Given the description of an element on the screen output the (x, y) to click on. 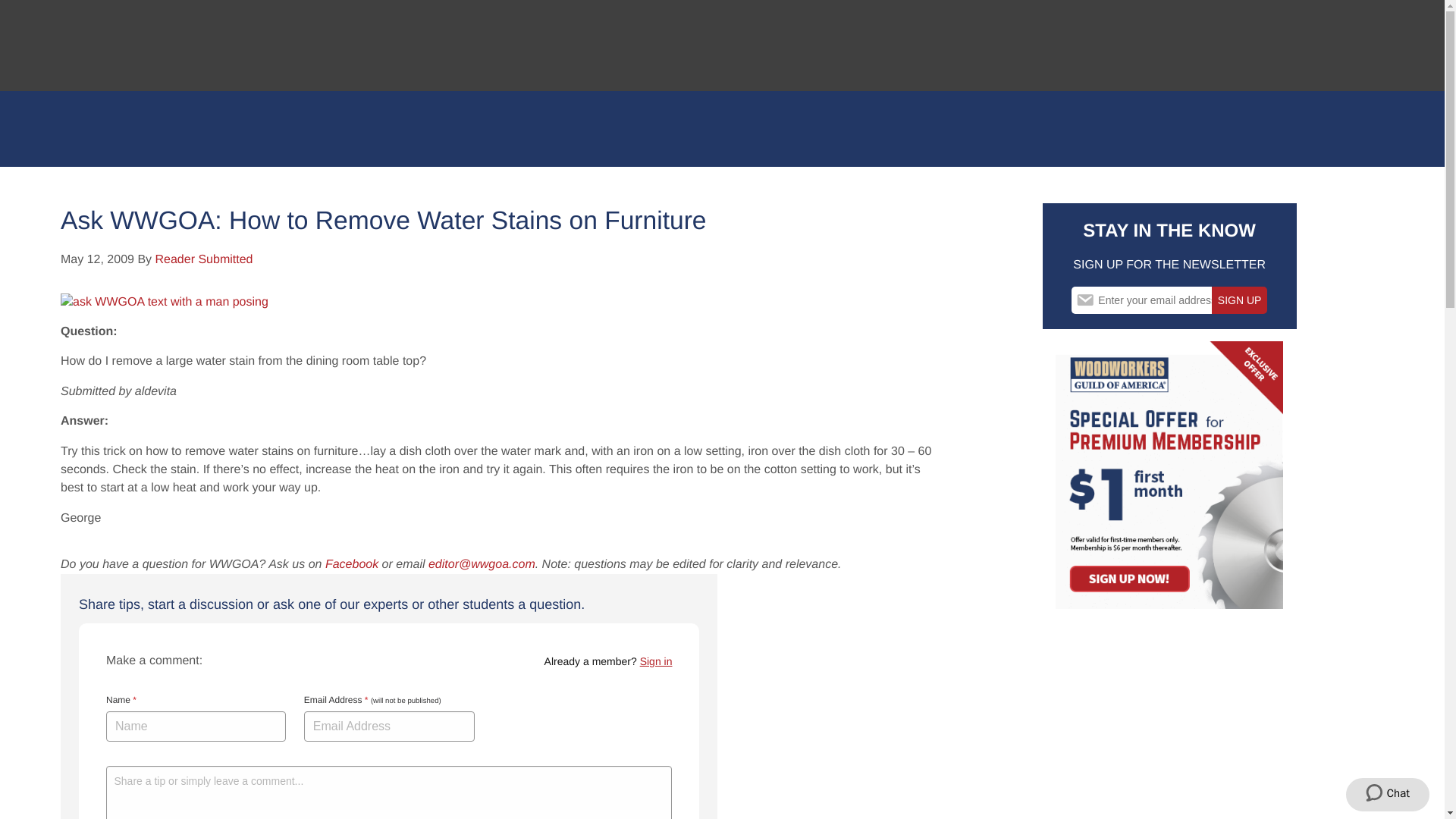
Facebook (351, 563)
Reader Submitted (204, 259)
Sign Up (1238, 299)
Sign in (656, 661)
Sign Up (1238, 299)
